Given the description of an element on the screen output the (x, y) to click on. 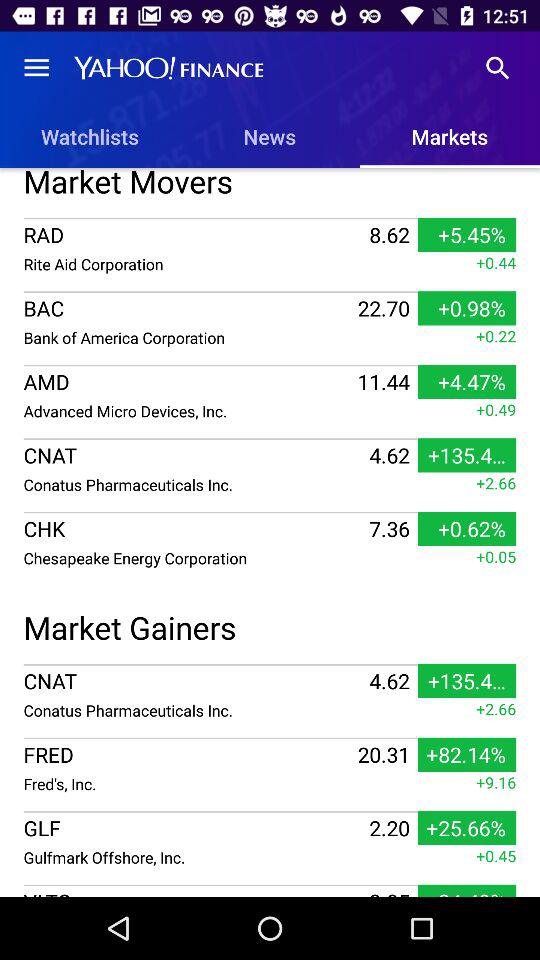
choose item above the watchlists item (36, 68)
